Given the description of an element on the screen output the (x, y) to click on. 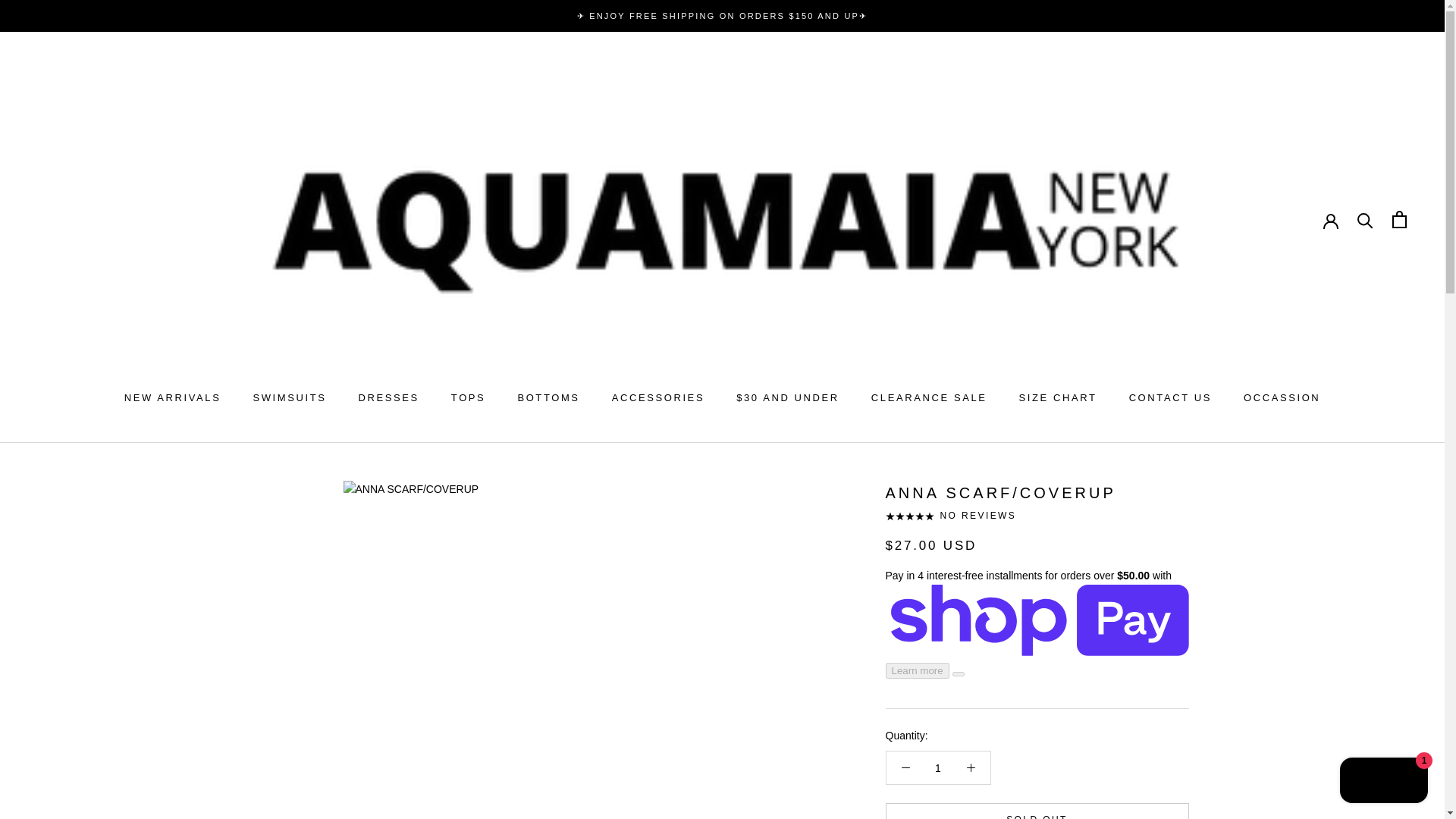
1 (928, 397)
Shopify online store chat (172, 397)
